Given the description of an element on the screen output the (x, y) to click on. 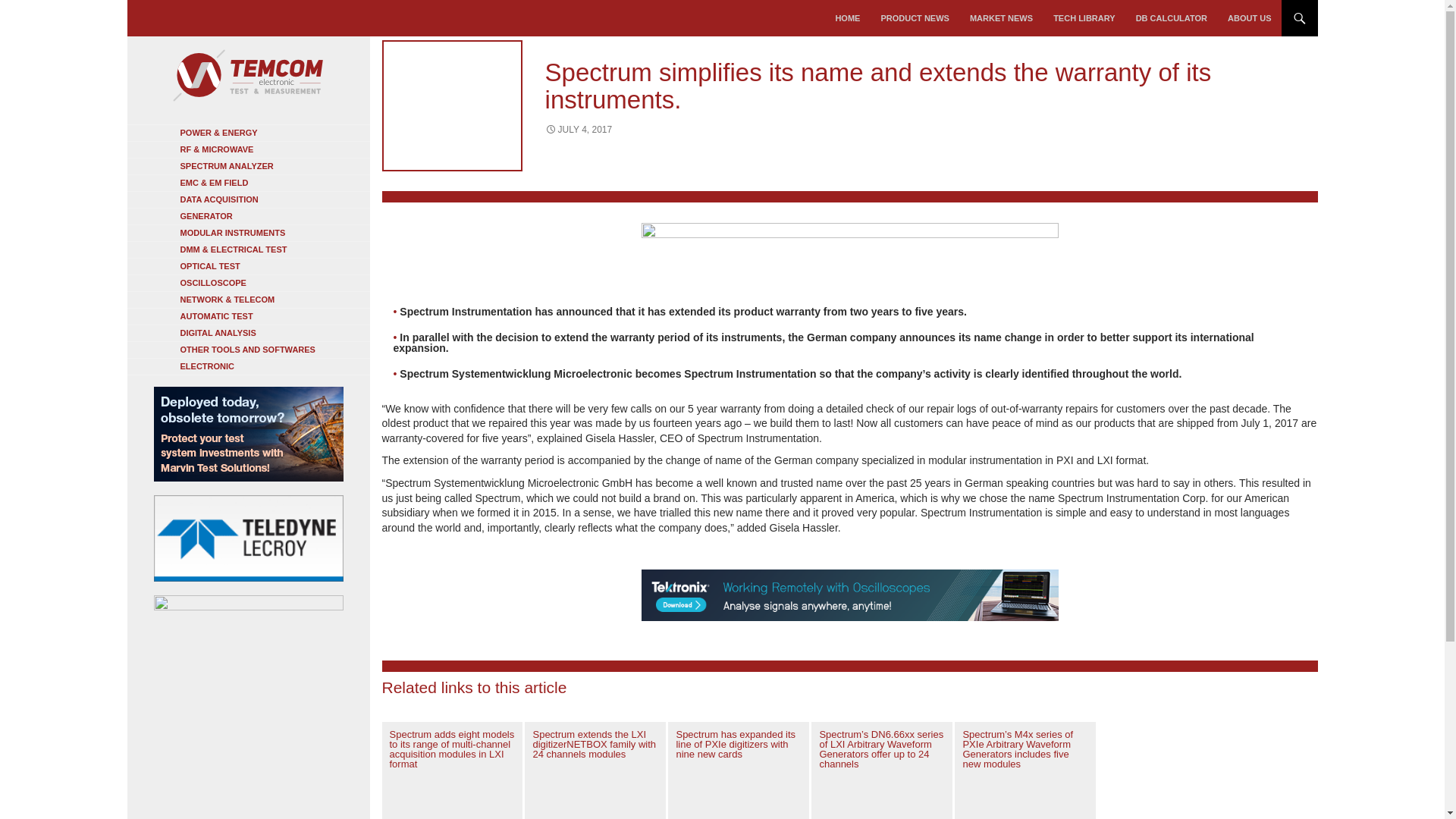
PRODUCT NEWS (914, 18)
DB CALCULATOR (1170, 18)
MARKET NEWS (1001, 18)
HOME (847, 18)
ABOUT US (1248, 18)
TECH LIBRARY (1083, 18)
JULY 4, 2017 (578, 129)
